Given the description of an element on the screen output the (x, y) to click on. 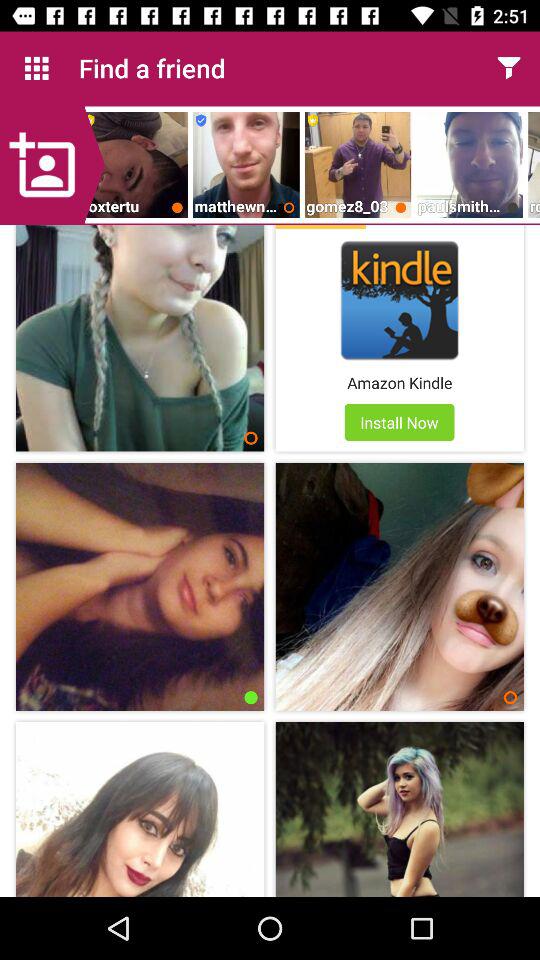
choose amazon kindle icon (399, 382)
